Given the description of an element on the screen output the (x, y) to click on. 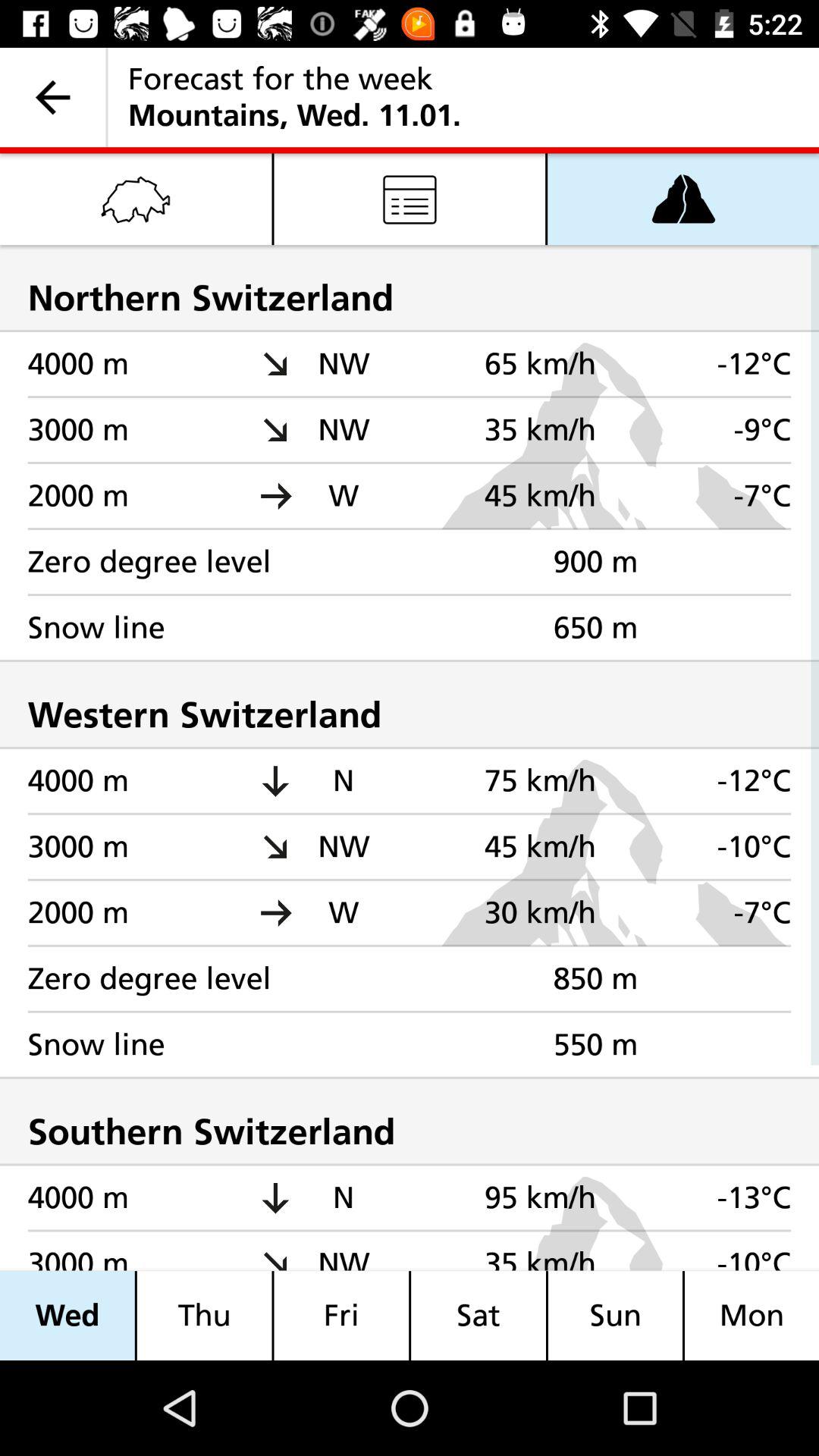
open icon next to the forecast for the icon (52, 97)
